Given the description of an element on the screen output the (x, y) to click on. 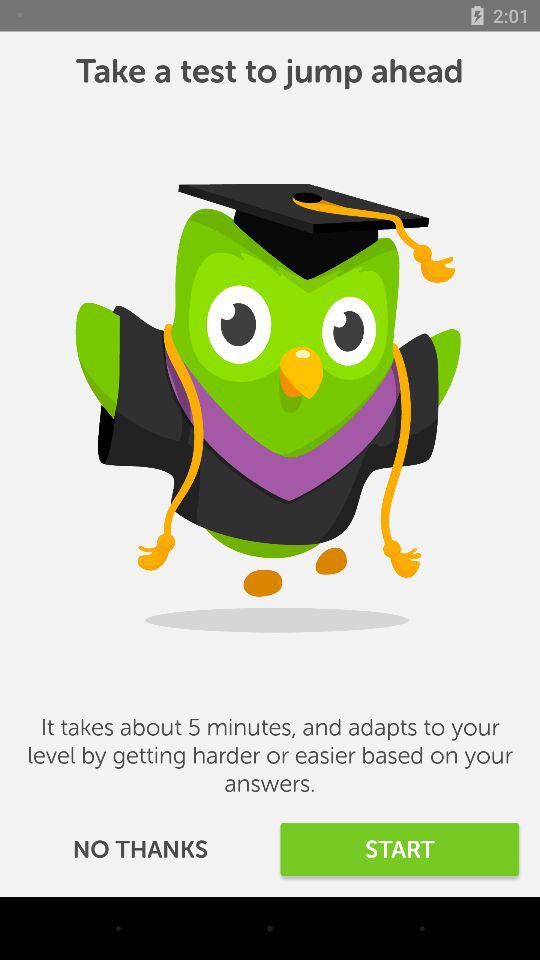
click item next to the no thanks icon (399, 849)
